Given the description of an element on the screen output the (x, y) to click on. 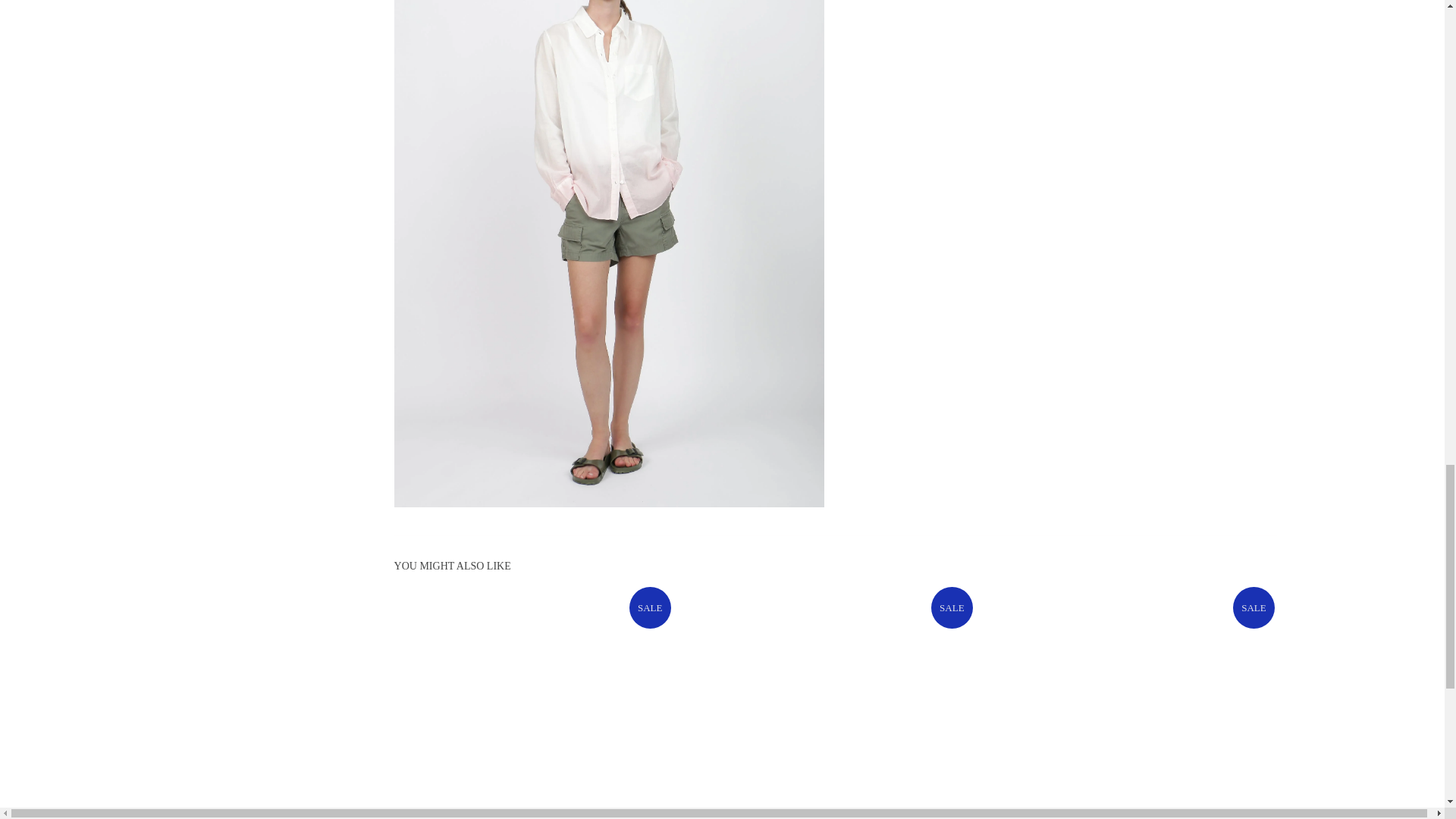
All Day Jogger (835, 701)
Seersucker Boater's Jacket (533, 701)
Patrol Pant (1136, 701)
